Given the description of an element on the screen output the (x, y) to click on. 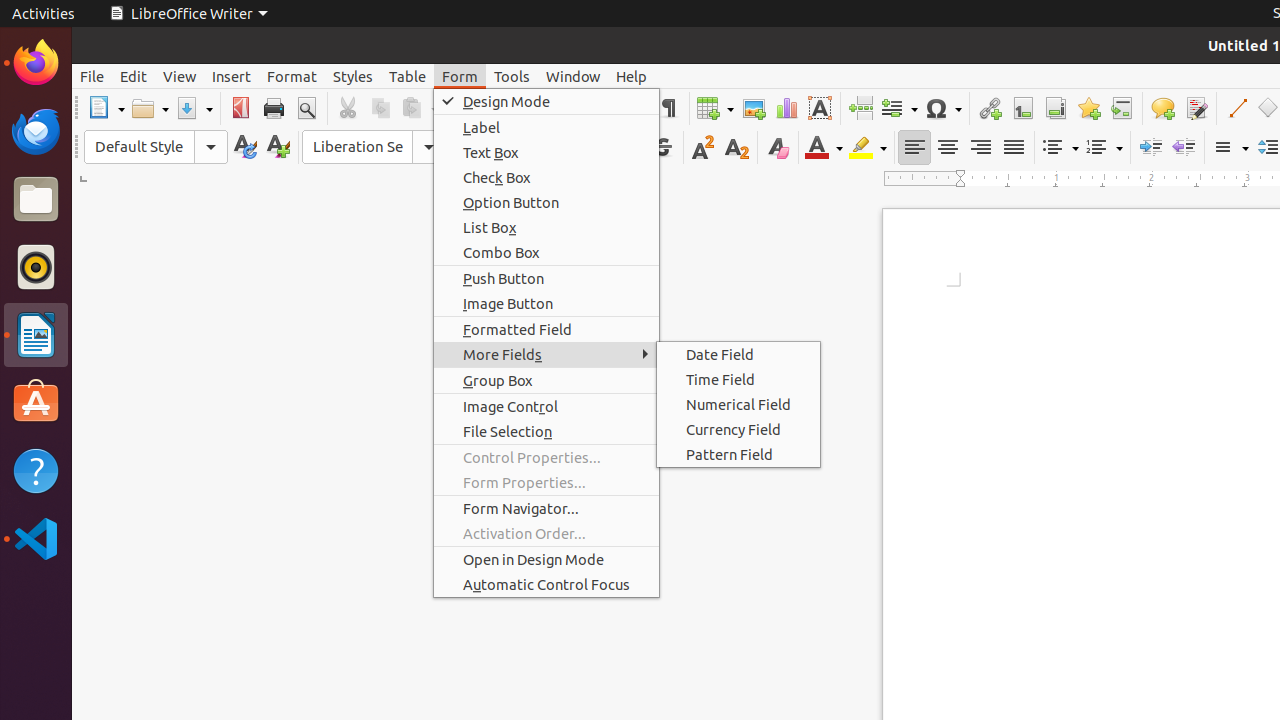
Open Element type: push-button (150, 108)
Right Element type: toggle-button (980, 147)
Formatting Marks Element type: toggle-button (668, 108)
LibreOffice Writer Element type: push-button (36, 334)
Subscript Element type: toggle-button (736, 147)
